Given the description of an element on the screen output the (x, y) to click on. 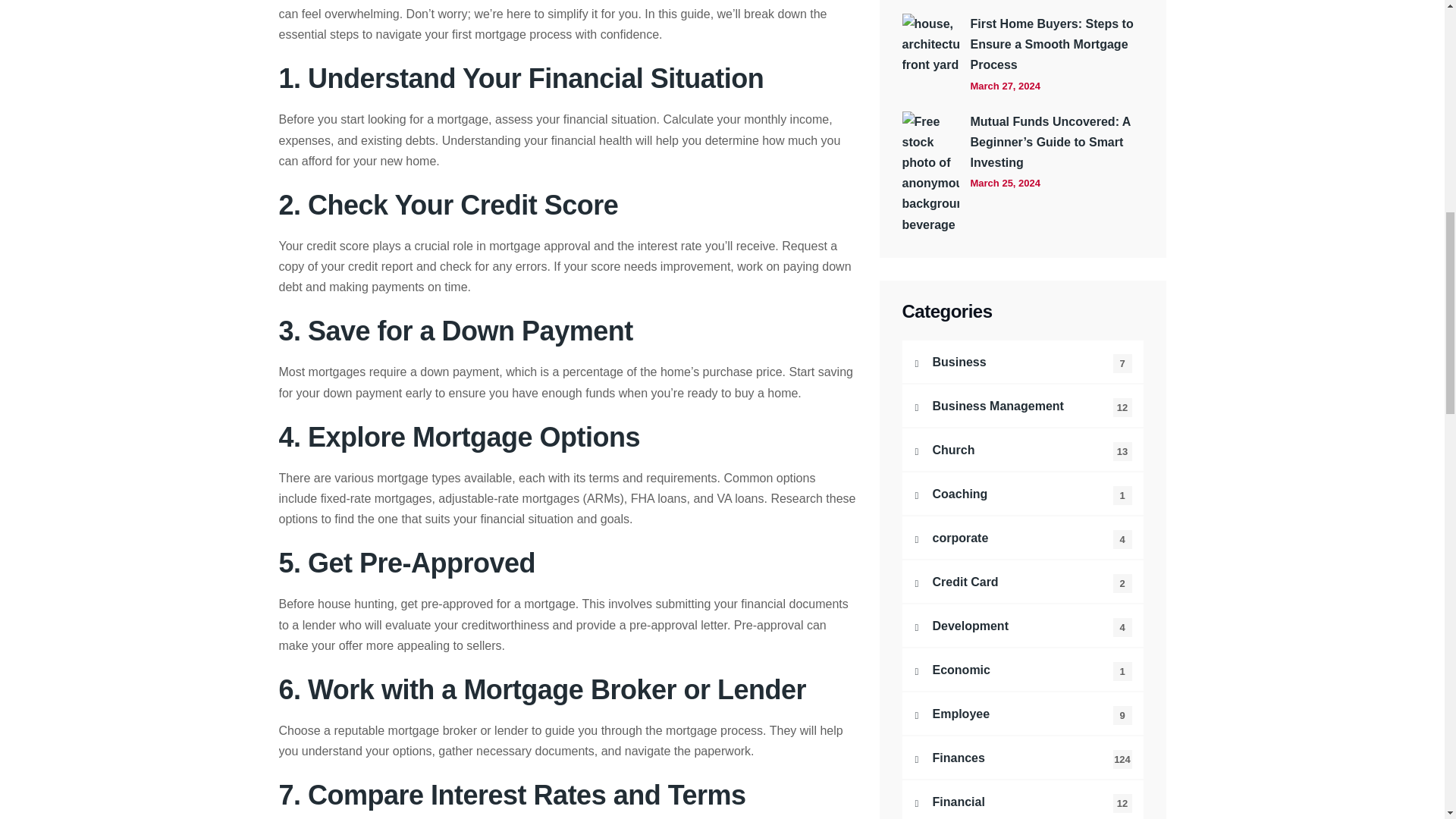
Economic (1022, 669)
Development (1022, 625)
March 25, 2024 (1006, 182)
Church (1022, 449)
March 27, 2024 (1006, 85)
corporate (1022, 537)
Business (1022, 361)
First Home Buyers: Steps to Ensure a Smooth Mortgage Process (1056, 44)
Business Management (1022, 405)
Credit Card (1022, 581)
Coaching (1022, 493)
